Given the description of an element on the screen output the (x, y) to click on. 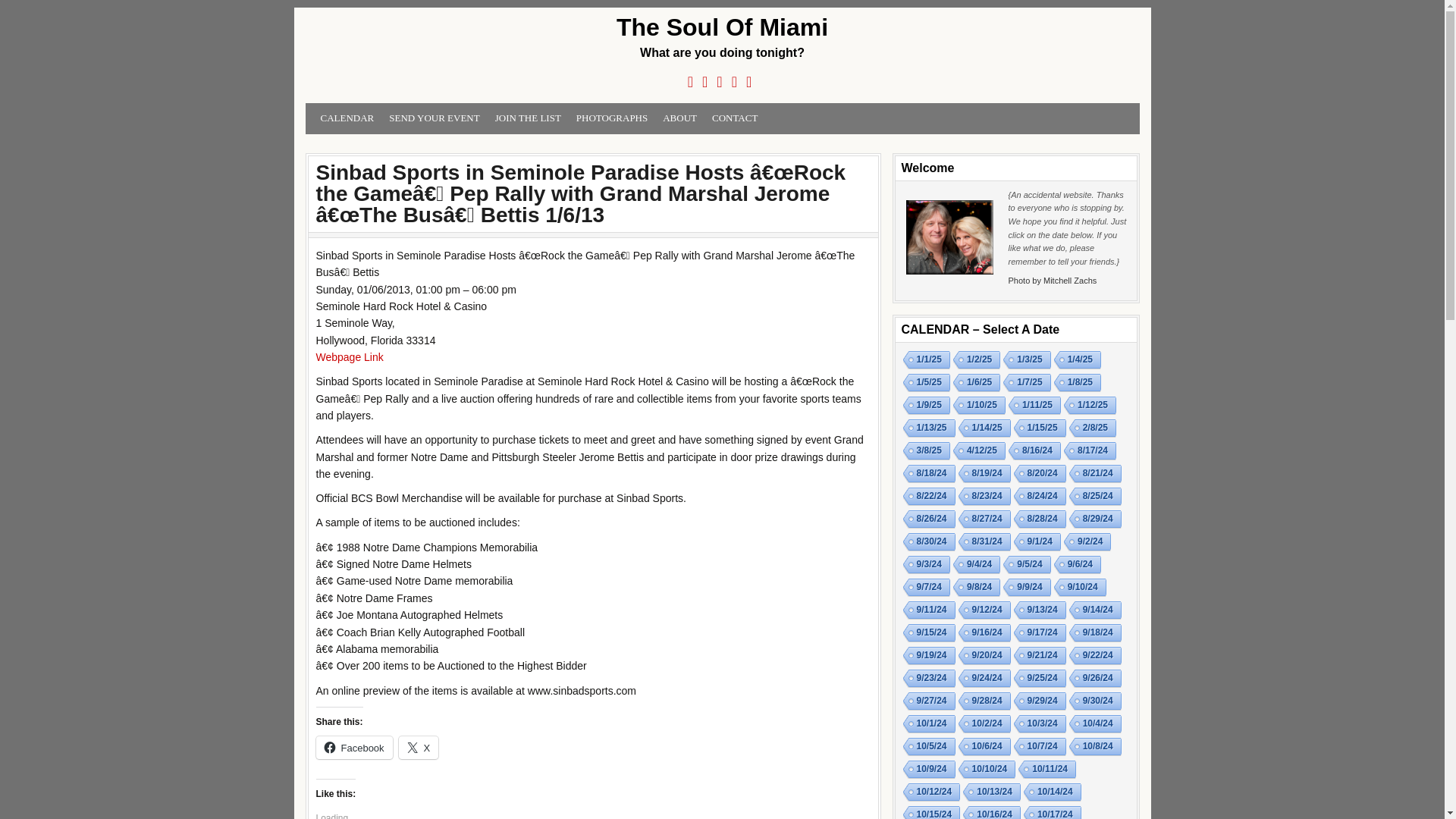
ABOUT (679, 118)
The Soul Of Miami (721, 27)
CONTACT (734, 118)
CALENDAR (347, 118)
Photo by Mitchell Zachs (1053, 280)
X (418, 747)
PHOTOGRAPHS (612, 118)
Click to share on Facebook (353, 747)
Webpage Link (348, 357)
JOIN THE LIST (528, 118)
